Given the description of an element on the screen output the (x, y) to click on. 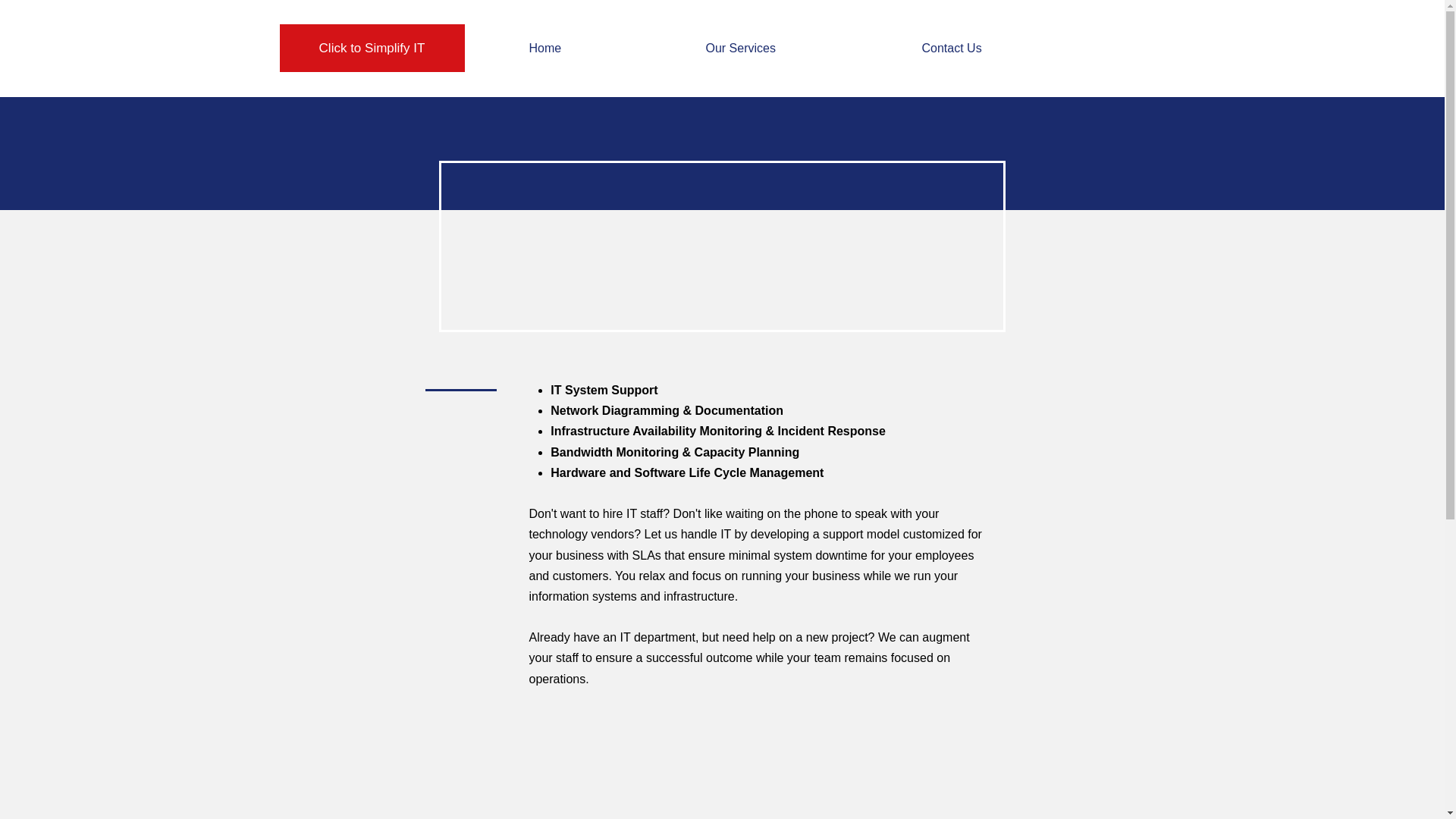
Home (605, 48)
Contact Us (1013, 48)
Click to Simplify IT (371, 48)
Our Services (802, 48)
